Given the description of an element on the screen output the (x, y) to click on. 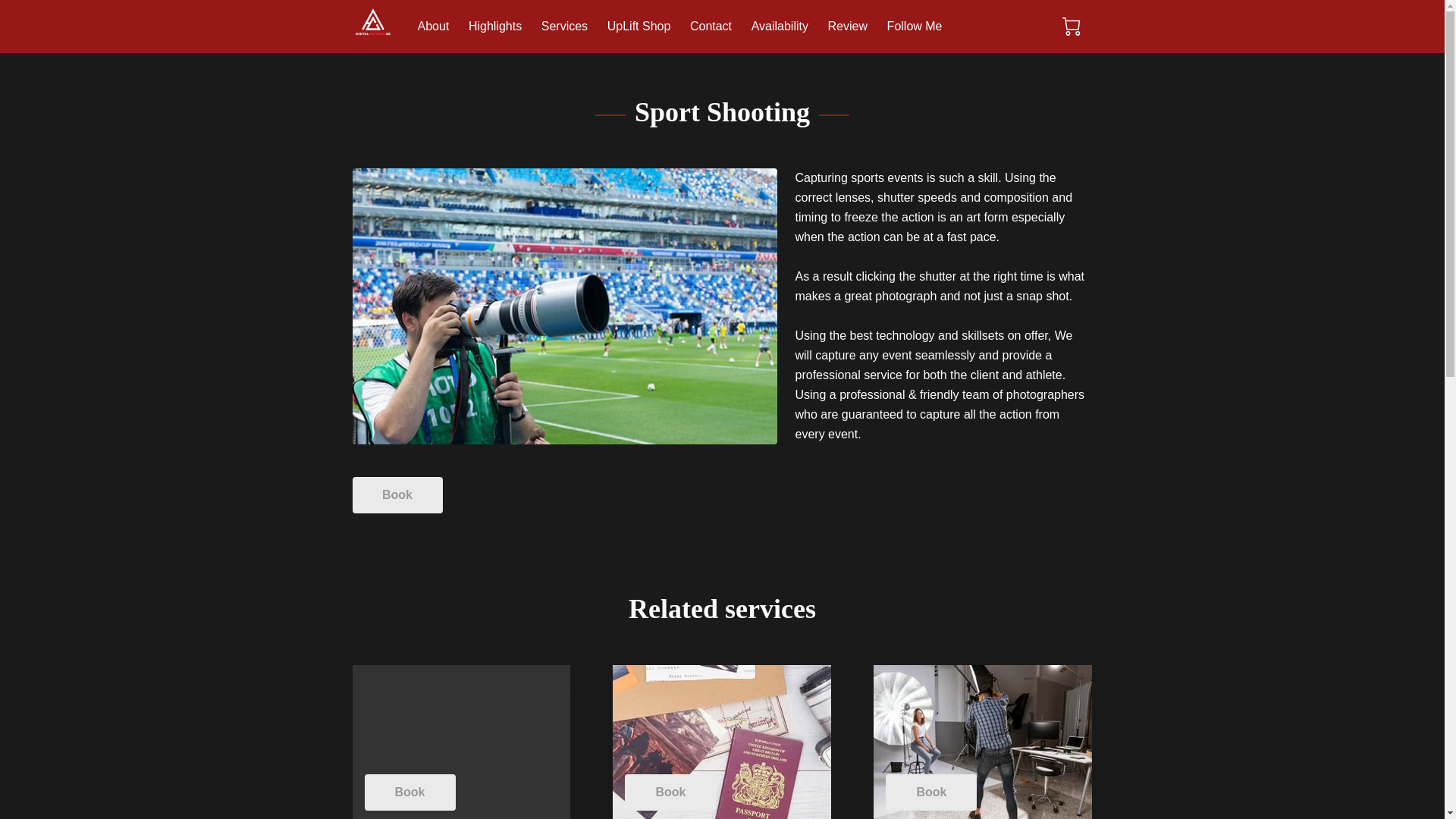
Follow Me (914, 26)
Highlights (494, 26)
Book (409, 791)
0 (1070, 26)
Book (397, 494)
Services (564, 26)
About (432, 26)
UpLift Shop (639, 26)
Review (847, 26)
Availability (779, 26)
